Given the description of an element on the screen output the (x, y) to click on. 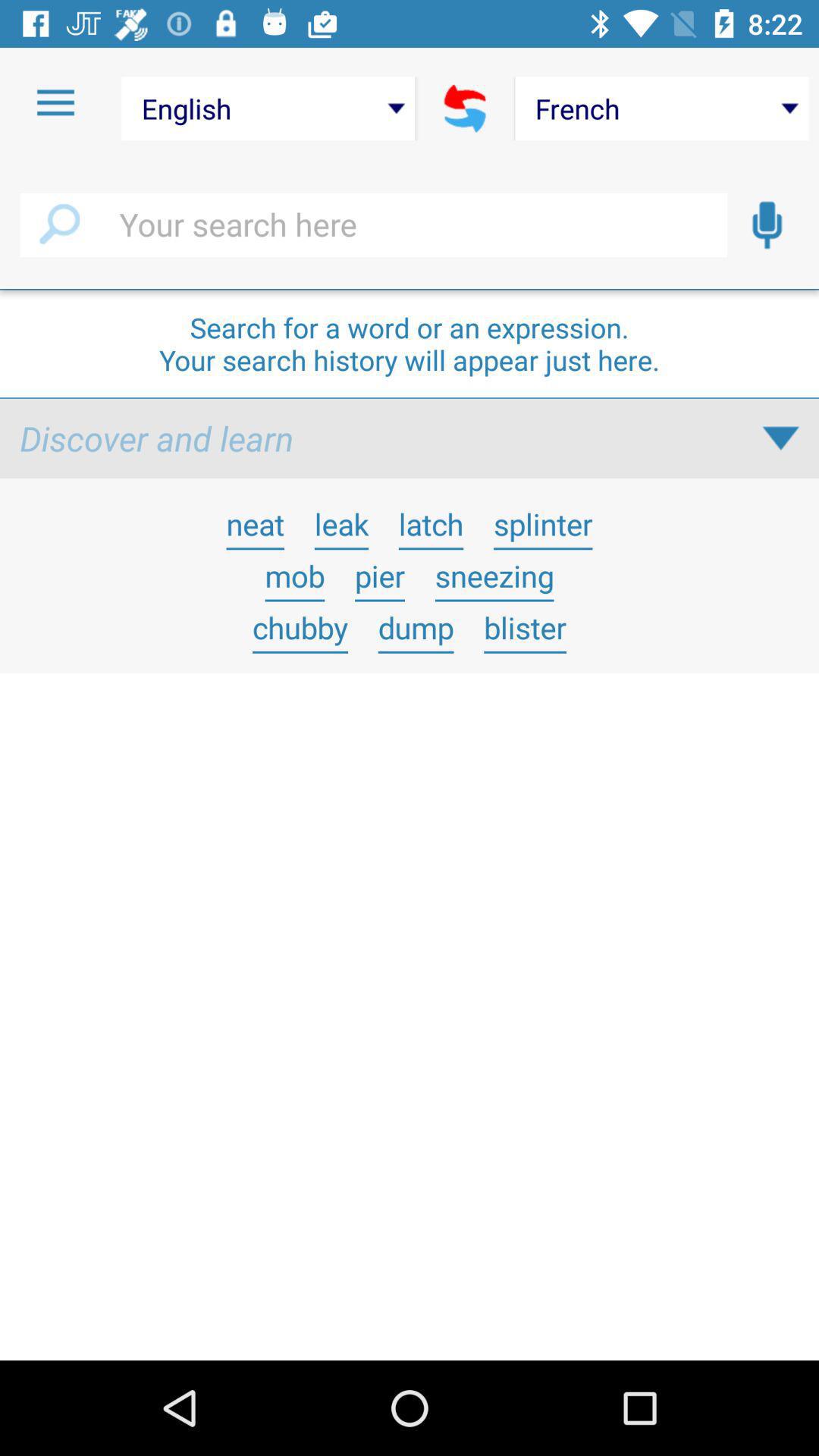
select search field (373, 225)
